Given the description of an element on the screen output the (x, y) to click on. 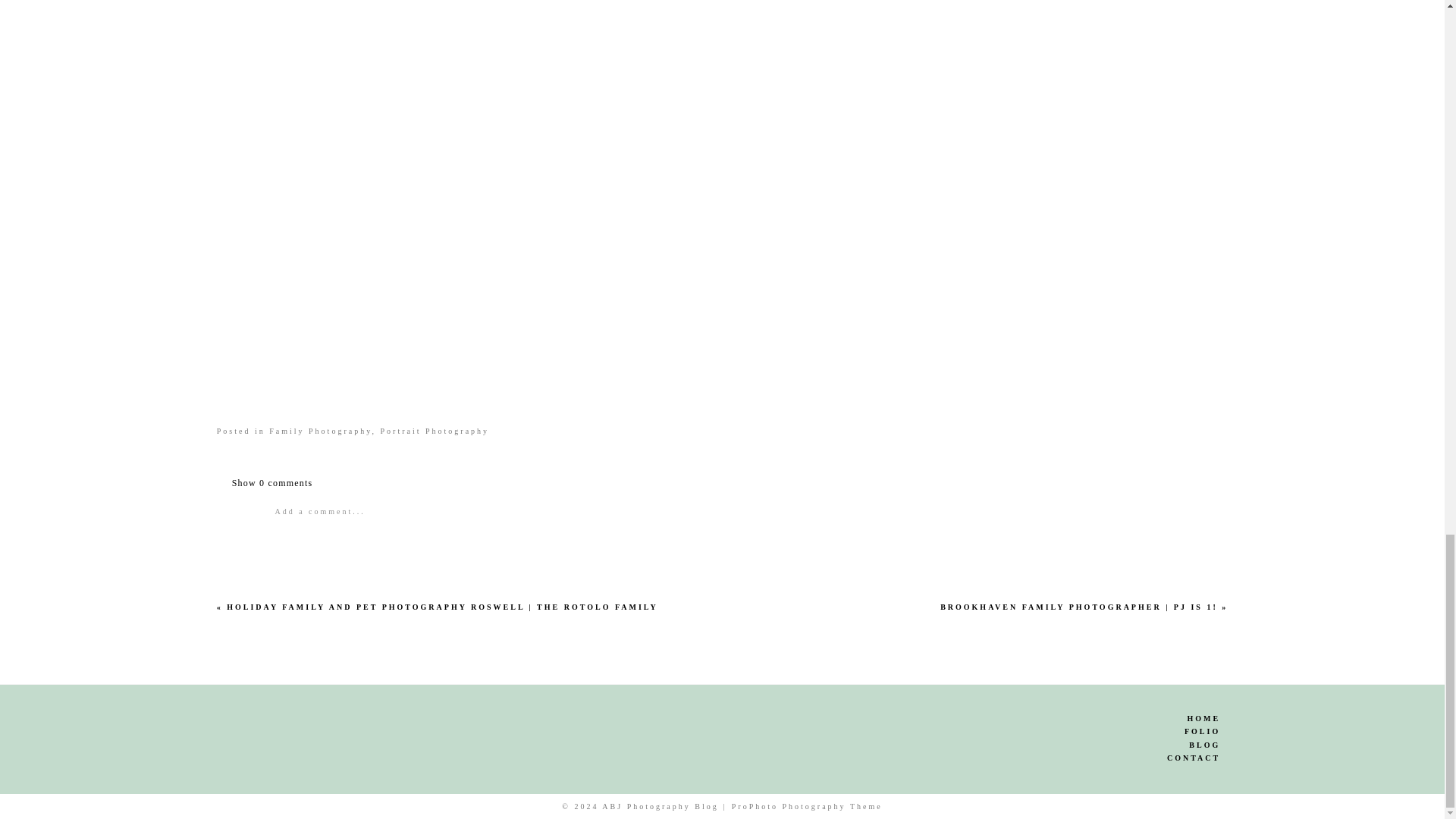
CONTACT (1059, 758)
HOME (1059, 718)
Family Photography (320, 430)
BLOG (1059, 745)
ProPhoto Photography Blog (807, 806)
Show 0 comments (272, 482)
ProPhoto Photography Theme (807, 806)
Portrait Photography (434, 430)
FOLIO (1059, 731)
